Given the description of an element on the screen output the (x, y) to click on. 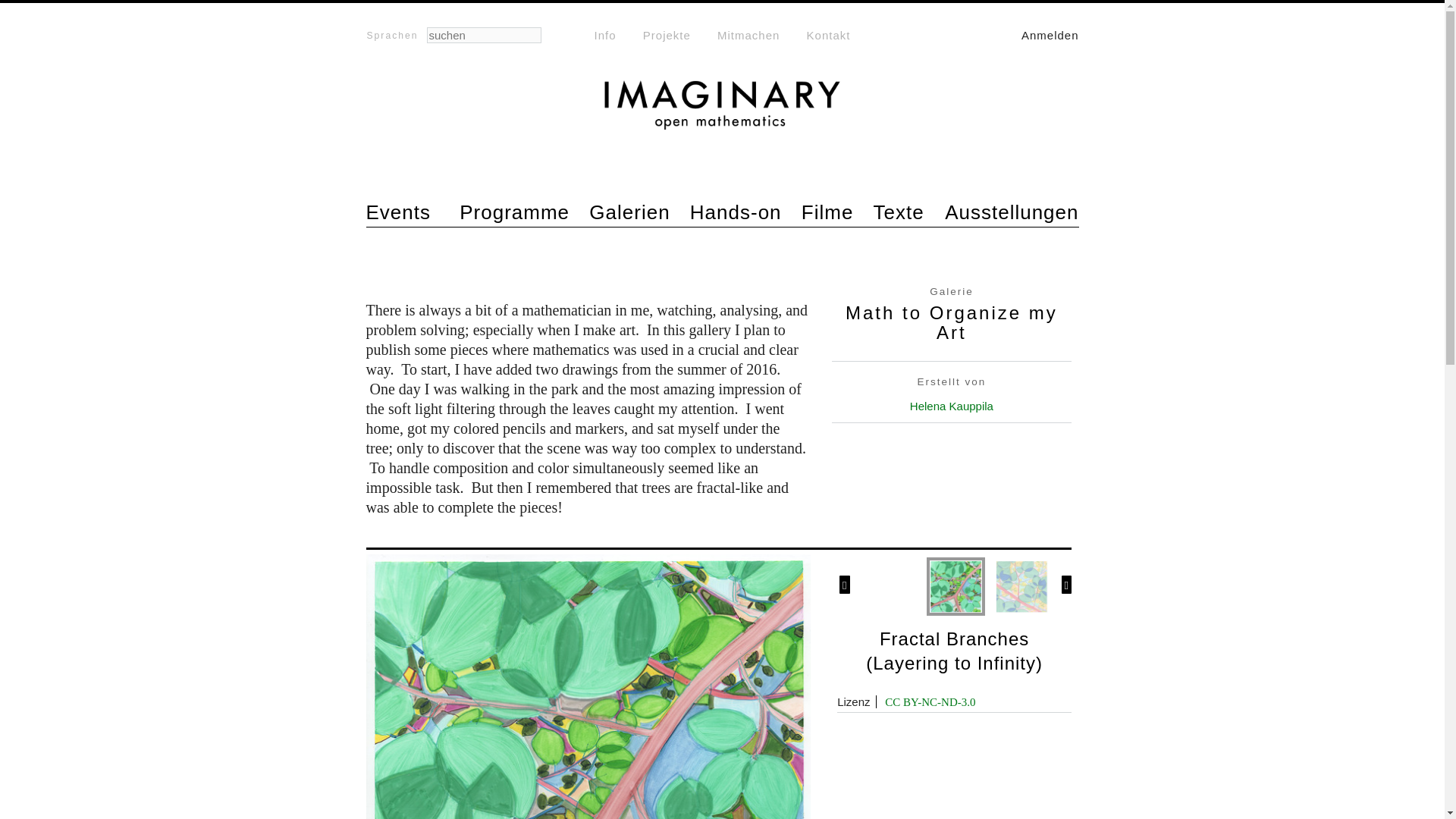
Events (397, 213)
IMAGINARY (426, 153)
Mitmachen (747, 35)
Hands-on (735, 213)
Programme (514, 213)
Geben Sie die Begriffe ein, nach denen Sie suchen. (483, 35)
Projekte (666, 35)
CC BY-NC-ND-3.0 (930, 702)
Texte (898, 213)
Kontakt (828, 35)
Ausstellungen (1011, 213)
Info (604, 35)
Filme (827, 213)
Galerien (629, 213)
